Given the description of an element on the screen output the (x, y) to click on. 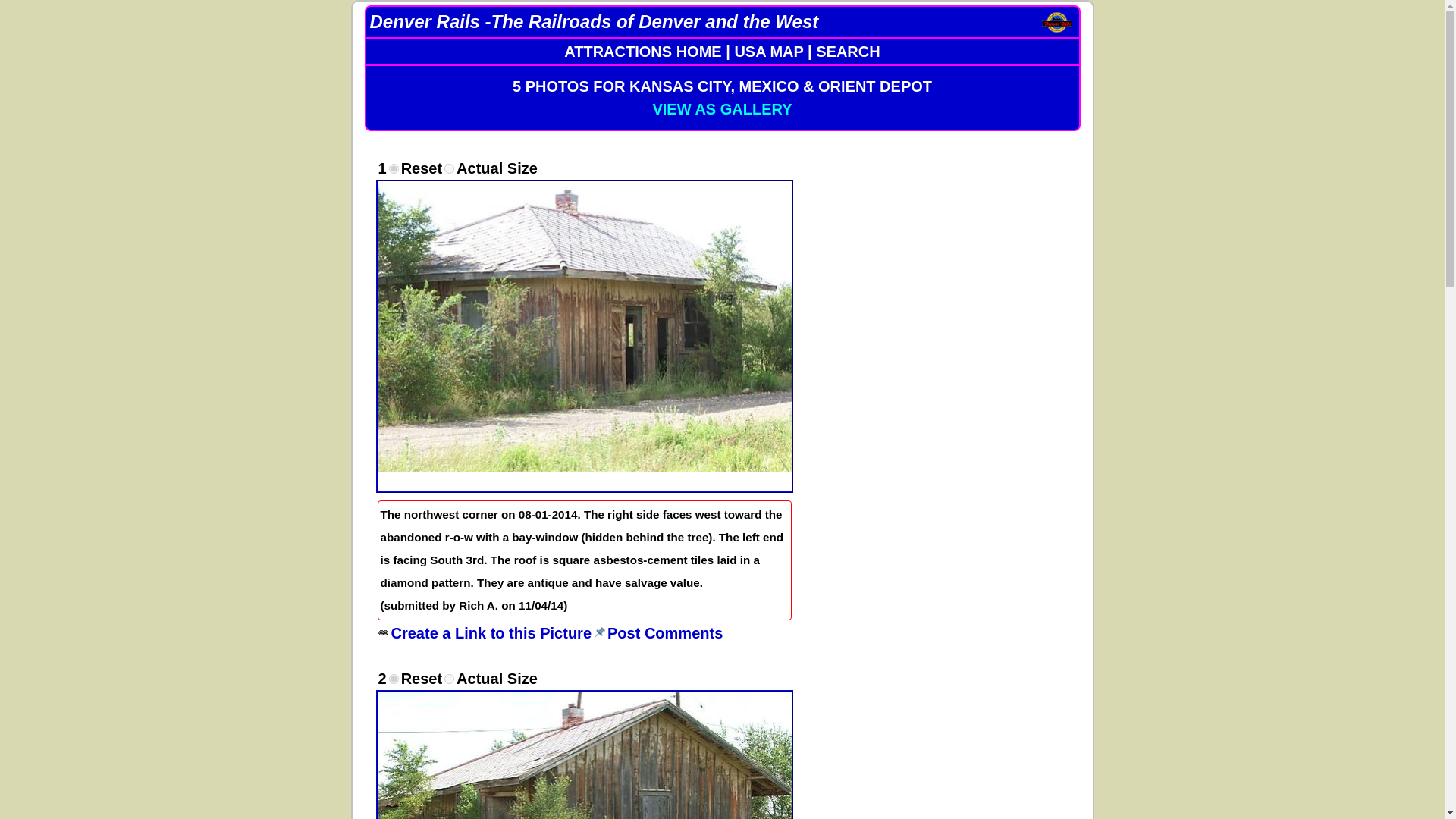
Create a Link to this Picture (382, 633)
Create a Link to this Picture (491, 632)
USA MAP (768, 51)
on (449, 168)
ATTRACTIONS HOME (642, 51)
on (393, 678)
SEARCH (847, 51)
on (449, 678)
on (393, 168)
VIEW AS GALLERY (722, 108)
